Given the description of an element on the screen output the (x, y) to click on. 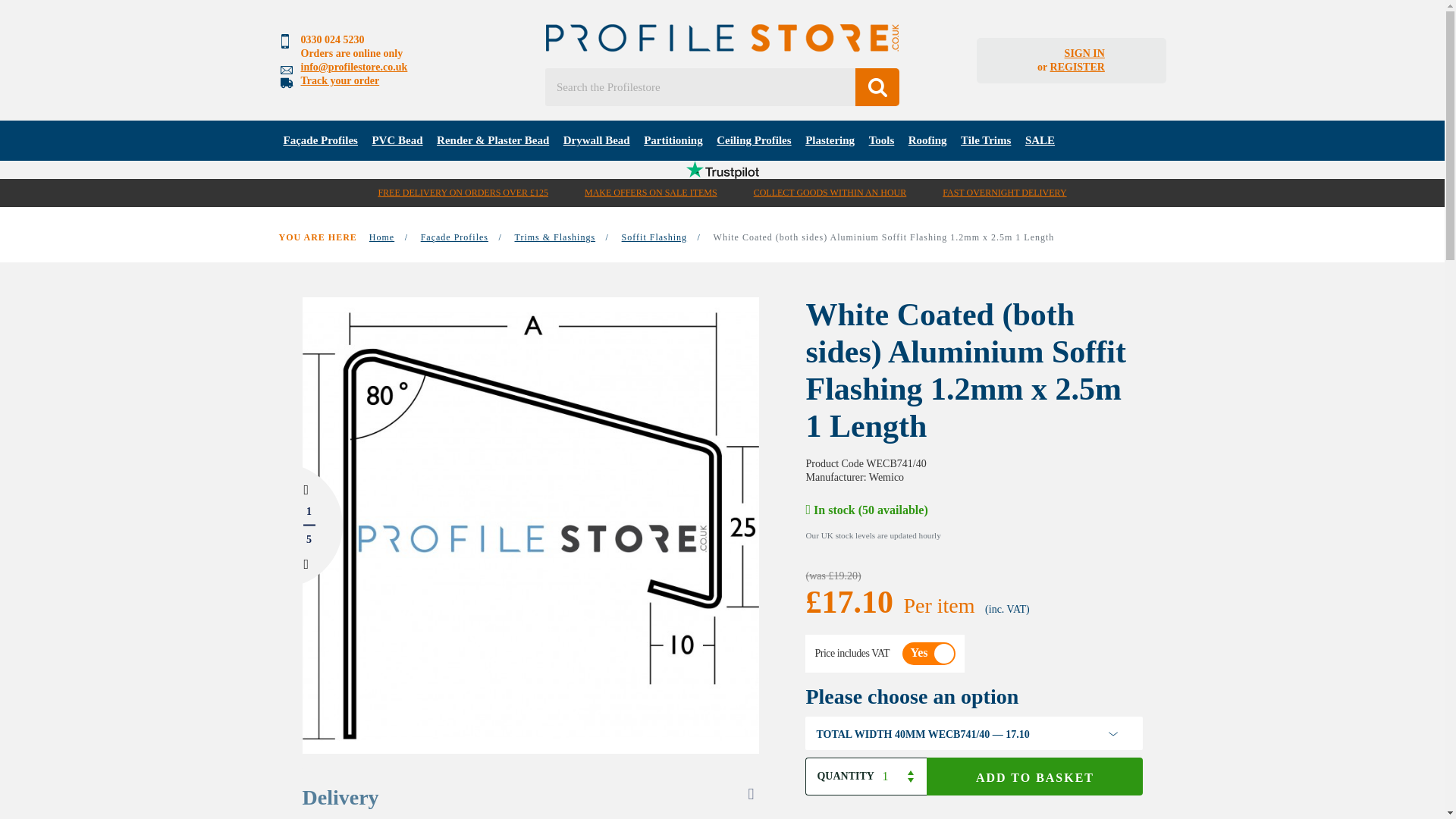
SIGN IN (1084, 52)
1 (901, 776)
REGISTER (1077, 66)
Customer reviews powered by Trustpilot (721, 169)
Track your order (338, 80)
PVC Bead (397, 140)
